Given the description of an element on the screen output the (x, y) to click on. 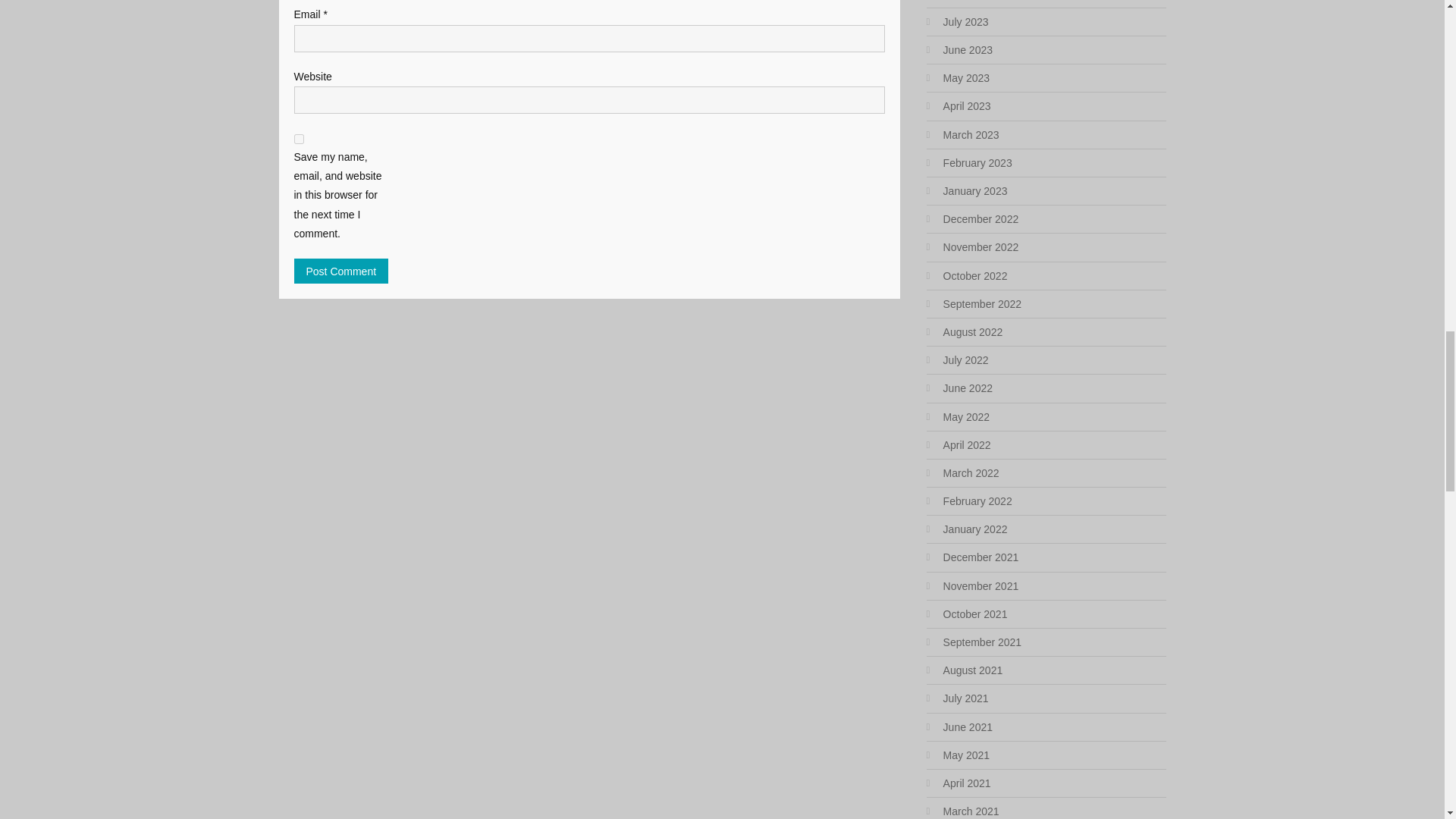
Post Comment (341, 270)
yes (299, 139)
Post Comment (341, 270)
